Given the description of an element on the screen output the (x, y) to click on. 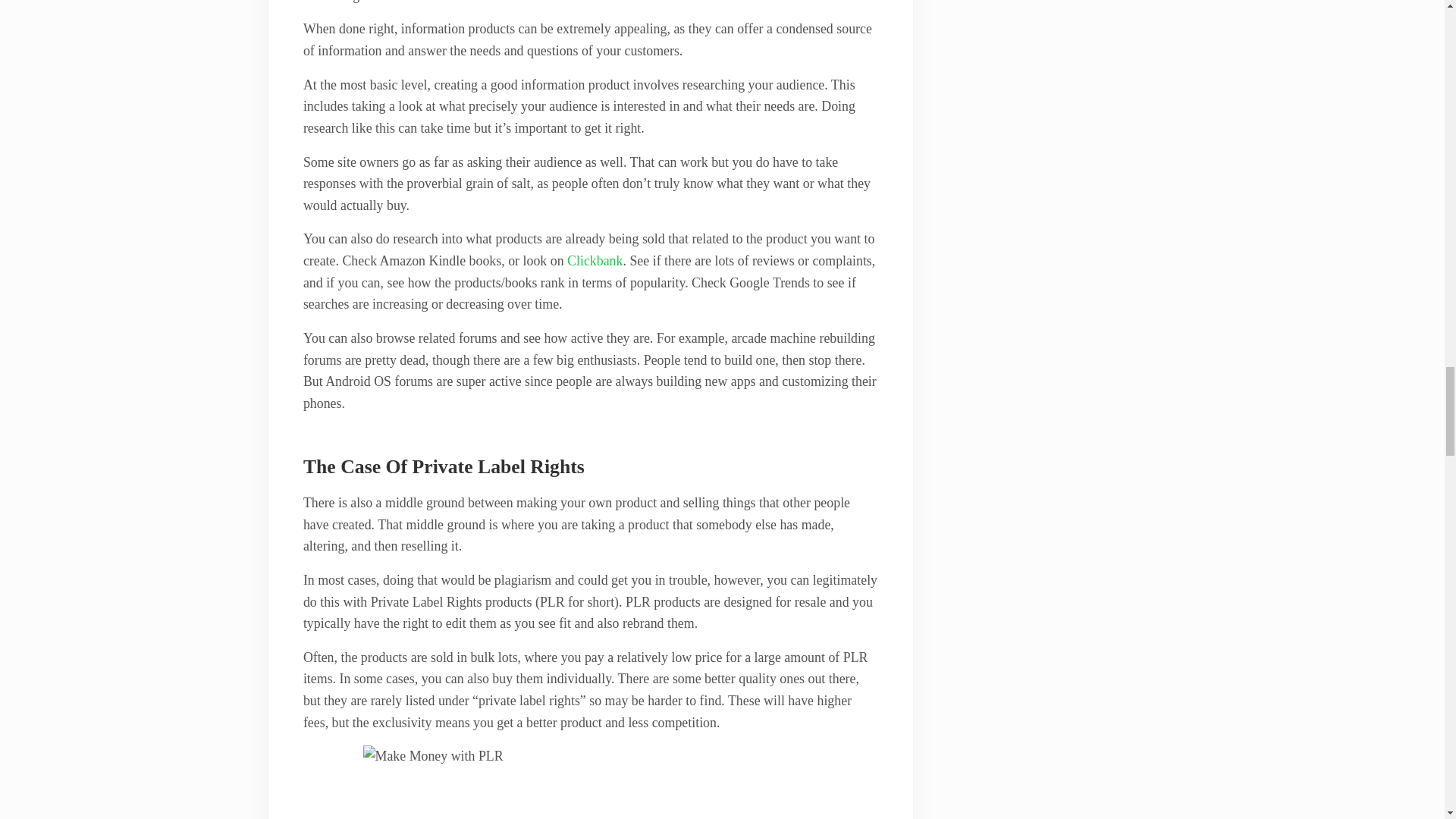
Clickbank (595, 260)
Make Money with PLR (589, 782)
